Given the description of an element on the screen output the (x, y) to click on. 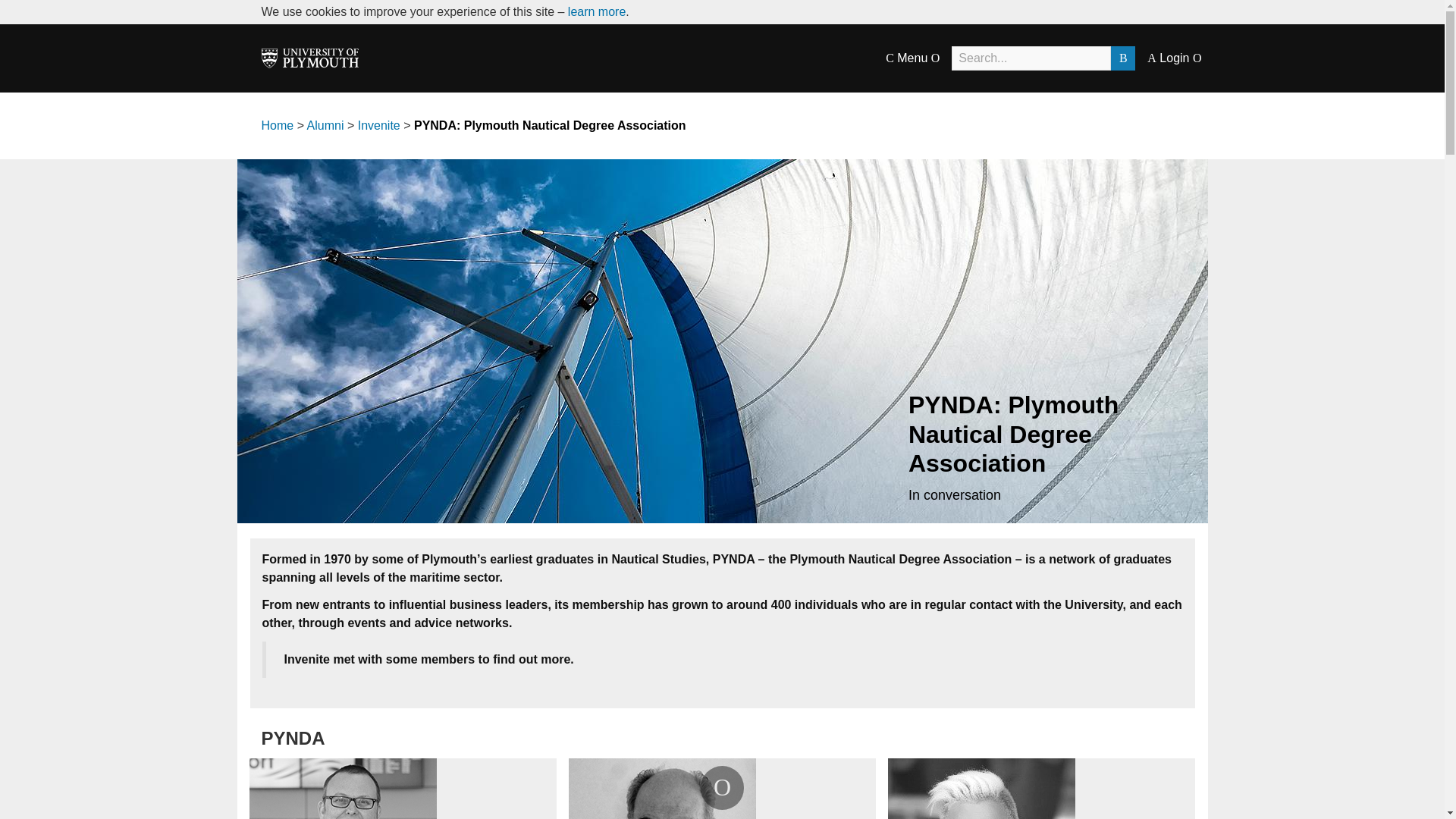
B (1122, 57)
A Login O (1174, 58)
learn more (596, 11)
C Menu O (911, 58)
